Given the description of an element on the screen output the (x, y) to click on. 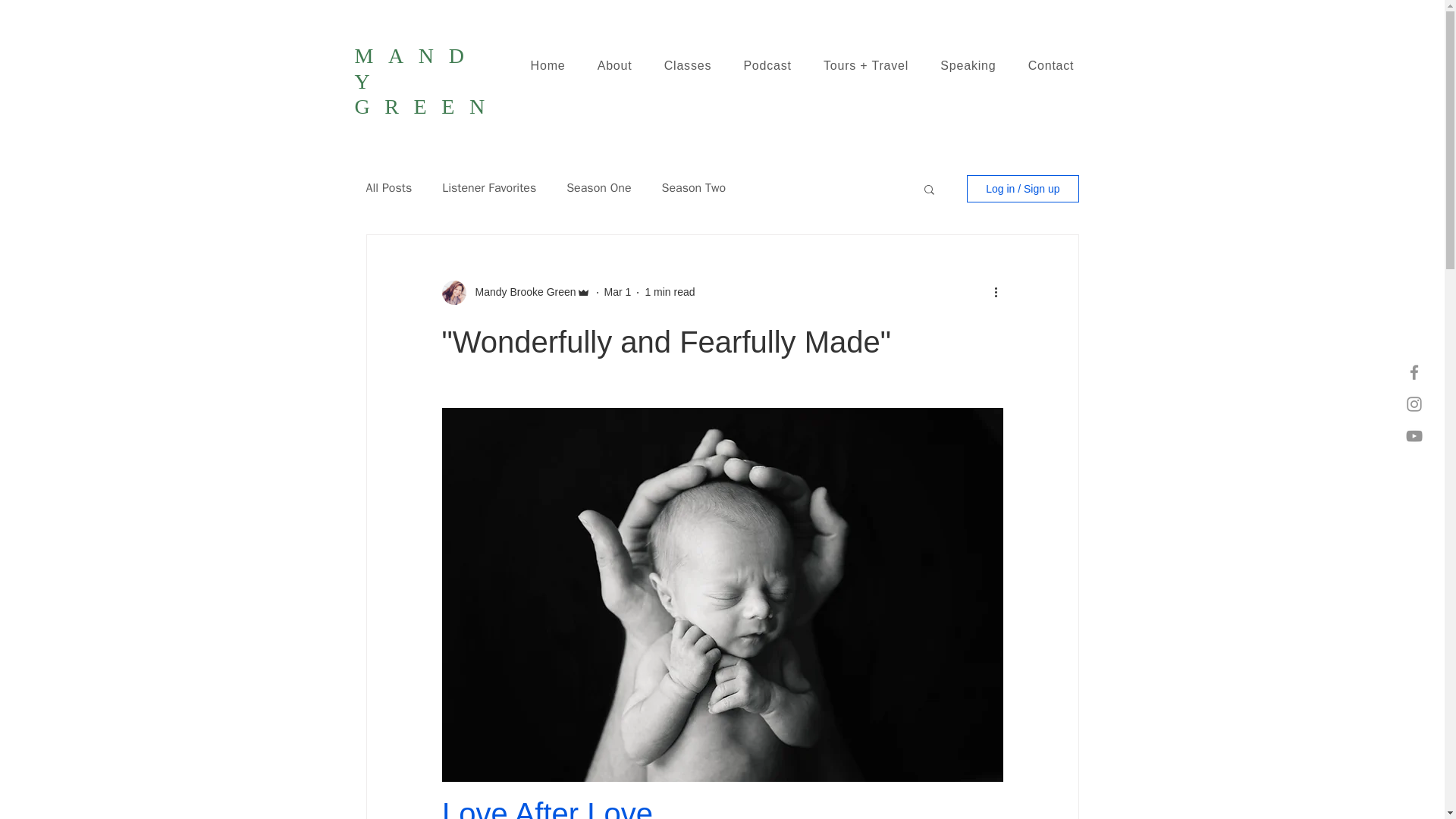
Home (547, 65)
Season One (598, 188)
1 min read (669, 291)
Love After Love (546, 807)
Mar 1 (617, 291)
Podcast (767, 65)
MANDY GREEN (427, 80)
All Posts (388, 188)
Speaking (968, 65)
Mandy Brooke Green (520, 292)
Season Two (693, 188)
About (615, 65)
Listener Favorites (488, 188)
Classes (687, 65)
Contact (1050, 65)
